Given the description of an element on the screen output the (x, y) to click on. 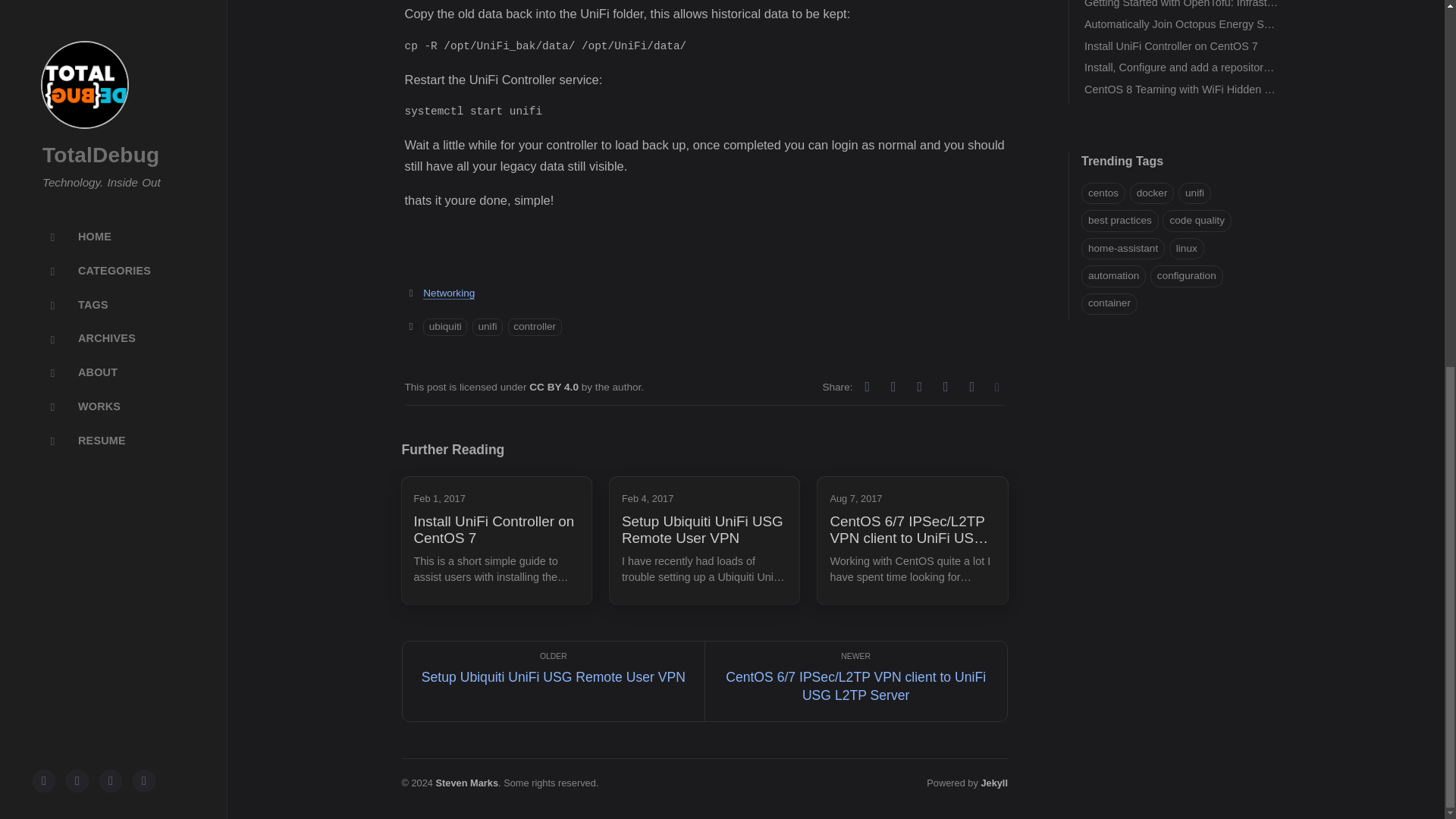
ubiquiti (445, 326)
unifi (486, 326)
controller (535, 326)
Networking (448, 293)
CC BY 4.0 (554, 387)
